Given the description of an element on the screen output the (x, y) to click on. 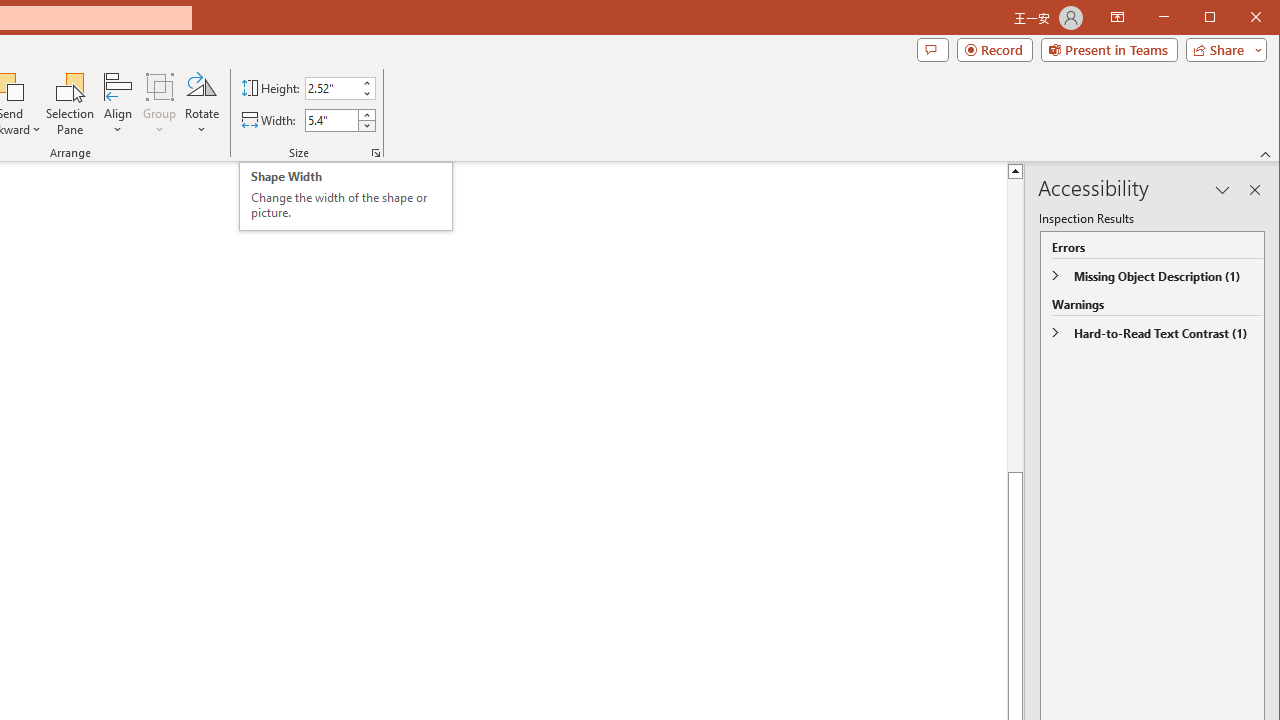
Shape Width (331, 120)
Rotate (201, 104)
Selection Pane... (70, 104)
